Given the description of an element on the screen output the (x, y) to click on. 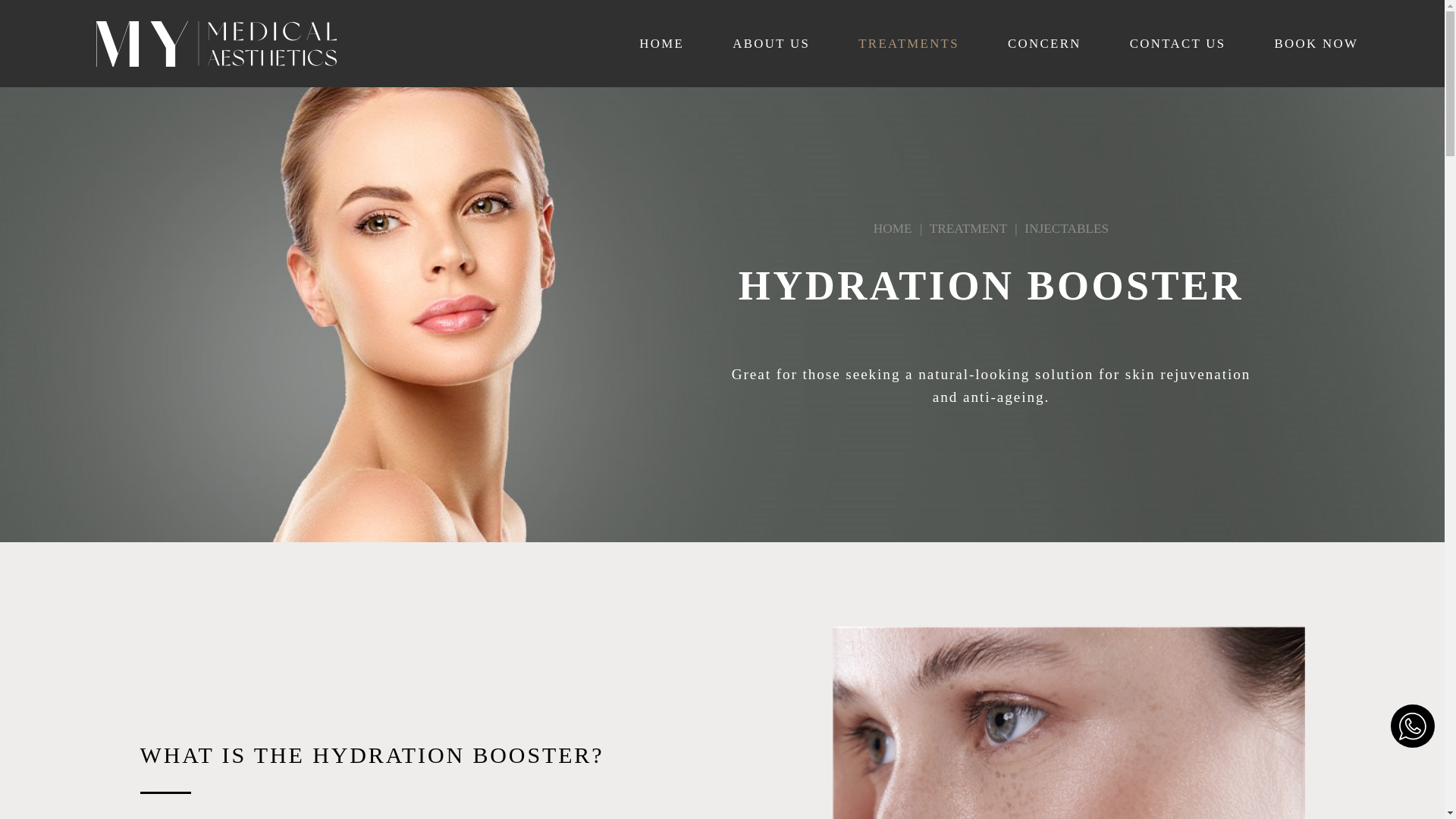
HOME (892, 228)
TREATMENT (968, 228)
CONTACT US (1176, 44)
BOOK NOW (1316, 44)
ABOUT US (770, 44)
CONCERN (1044, 44)
INJECTABLES (1066, 228)
TREATMENTS (909, 44)
HOME (661, 44)
